Given the description of an element on the screen output the (x, y) to click on. 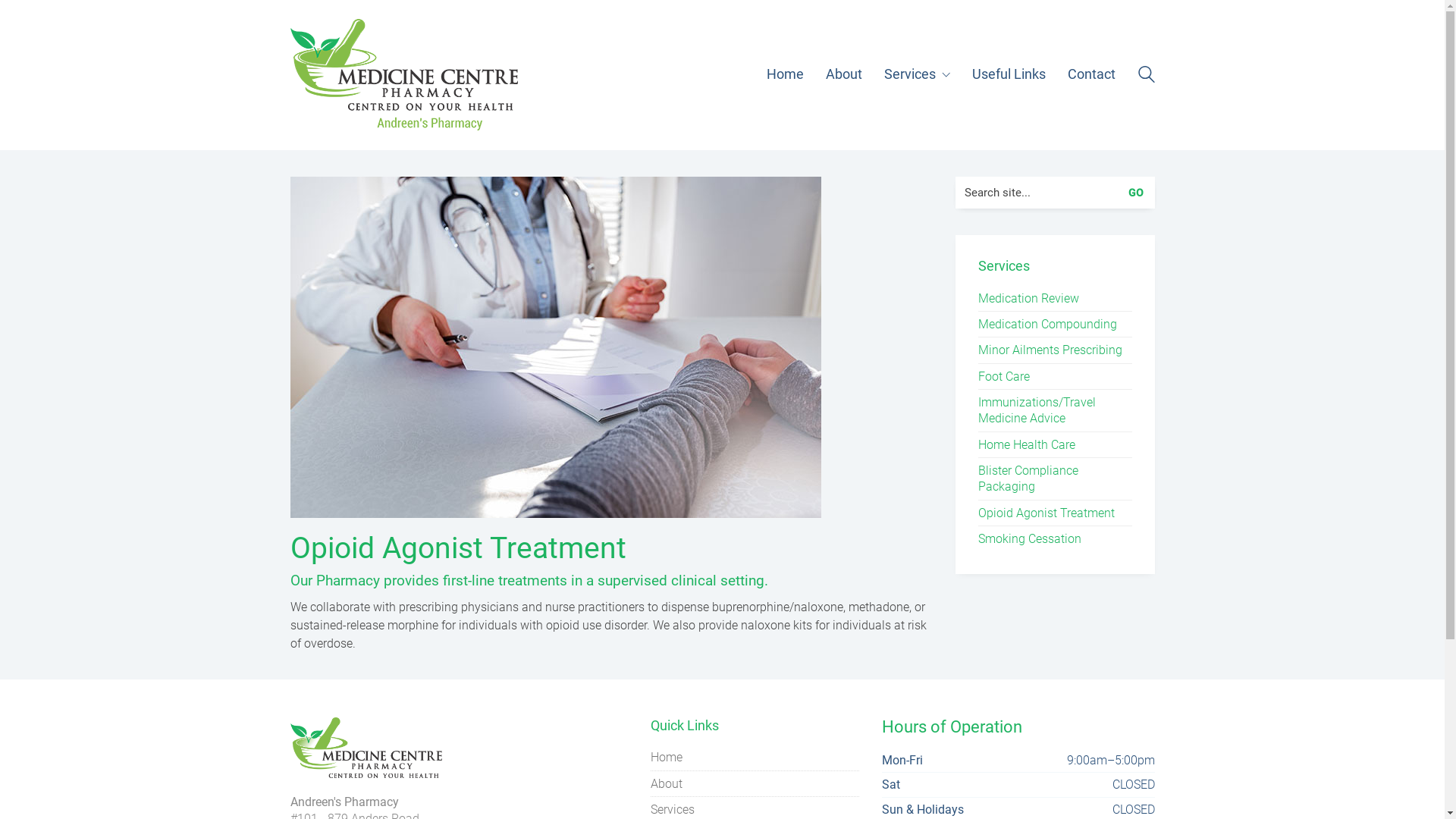
Blister Compliance Packaging Element type: text (1055, 478)
Contact Element type: text (1091, 74)
Opioid Agonist Treatment Element type: text (1046, 512)
Medication Compounding Element type: text (1047, 324)
Minor Ailments Prescribing Element type: text (1050, 349)
Search for: Element type: hover (1054, 192)
Home Health Care Element type: text (1026, 444)
Home Element type: text (784, 74)
Go Element type: text (1138, 192)
About Element type: text (843, 74)
Immunizations/Travel Medicine Advice Element type: text (1055, 410)
Services Element type: text (917, 74)
Smoking Cessation Element type: text (1029, 538)
Home Element type: text (666, 757)
Foot Care Element type: text (1003, 376)
About Element type: text (666, 782)
Services Element type: text (672, 809)
Medication Review Element type: text (1028, 298)
Useful Links Element type: text (1008, 74)
